Given the description of an element on the screen output the (x, y) to click on. 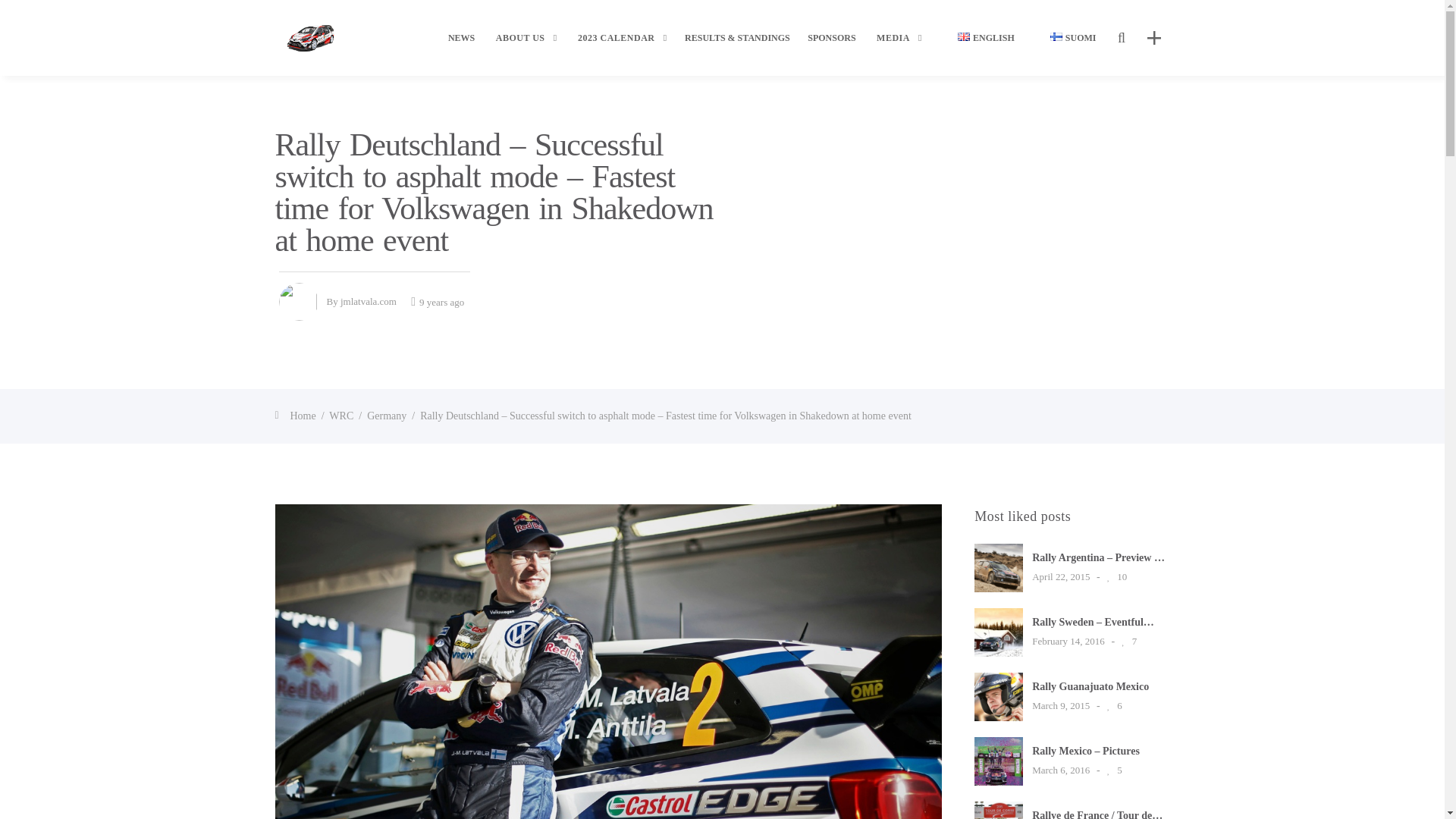
Like (1112, 769)
Suomi (1055, 36)
Like (1114, 576)
Like (1127, 640)
English (963, 36)
Like (1112, 705)
